Given the description of an element on the screen output the (x, y) to click on. 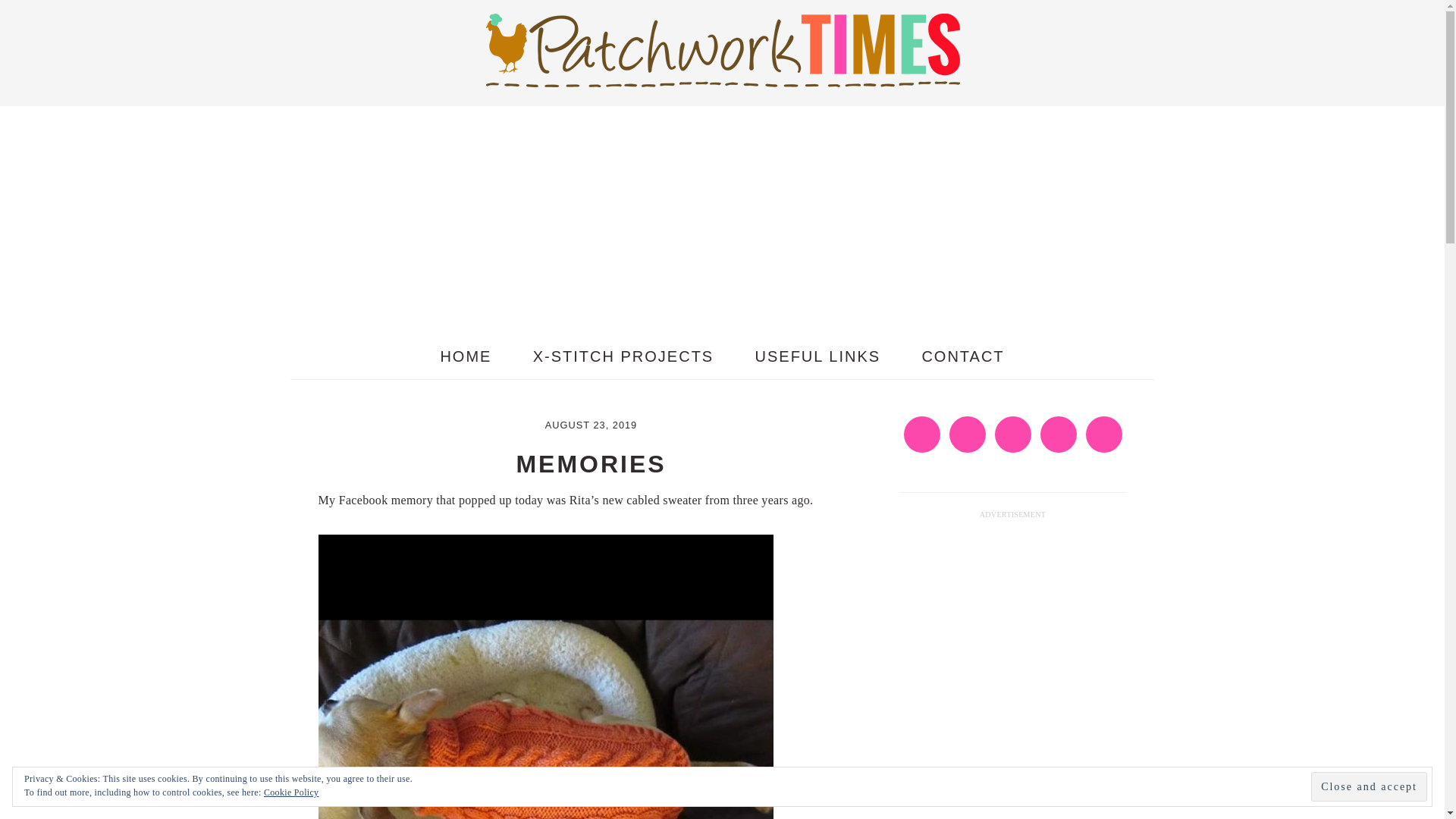
X-STITCH PROJECTS (622, 356)
Patchwork Times by Judy Laquidara (721, 48)
USEFUL LINKS (817, 356)
Patchwork Times by Judy Laquidara (721, 74)
Close and accept (1368, 786)
CONTACT (962, 356)
HOME (465, 356)
